Given the description of an element on the screen output the (x, y) to click on. 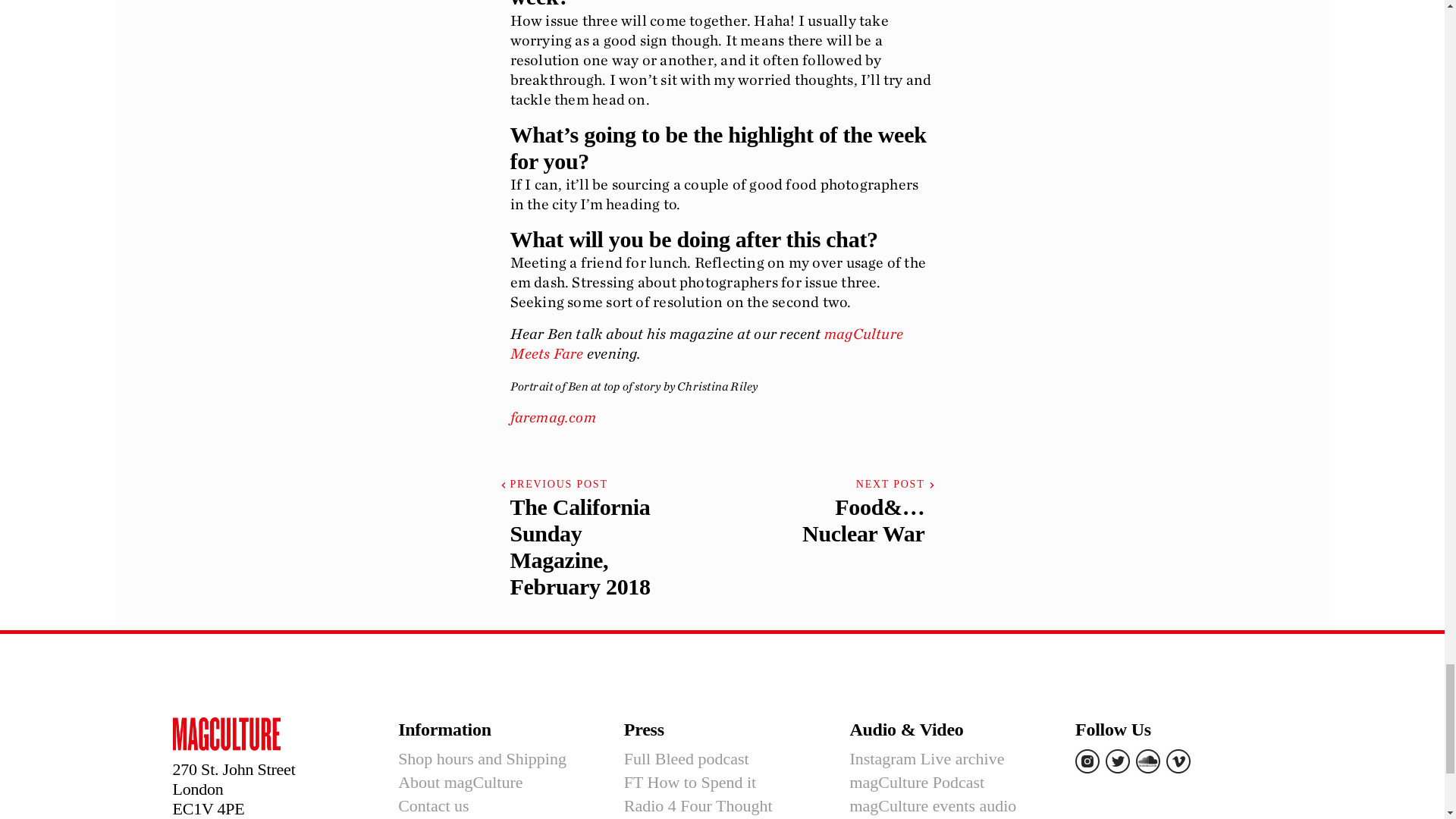
Twitter (1117, 761)
Soundcloud (1147, 761)
Vimeo (1178, 761)
Instagram (1087, 761)
